Given the description of an element on the screen output the (x, y) to click on. 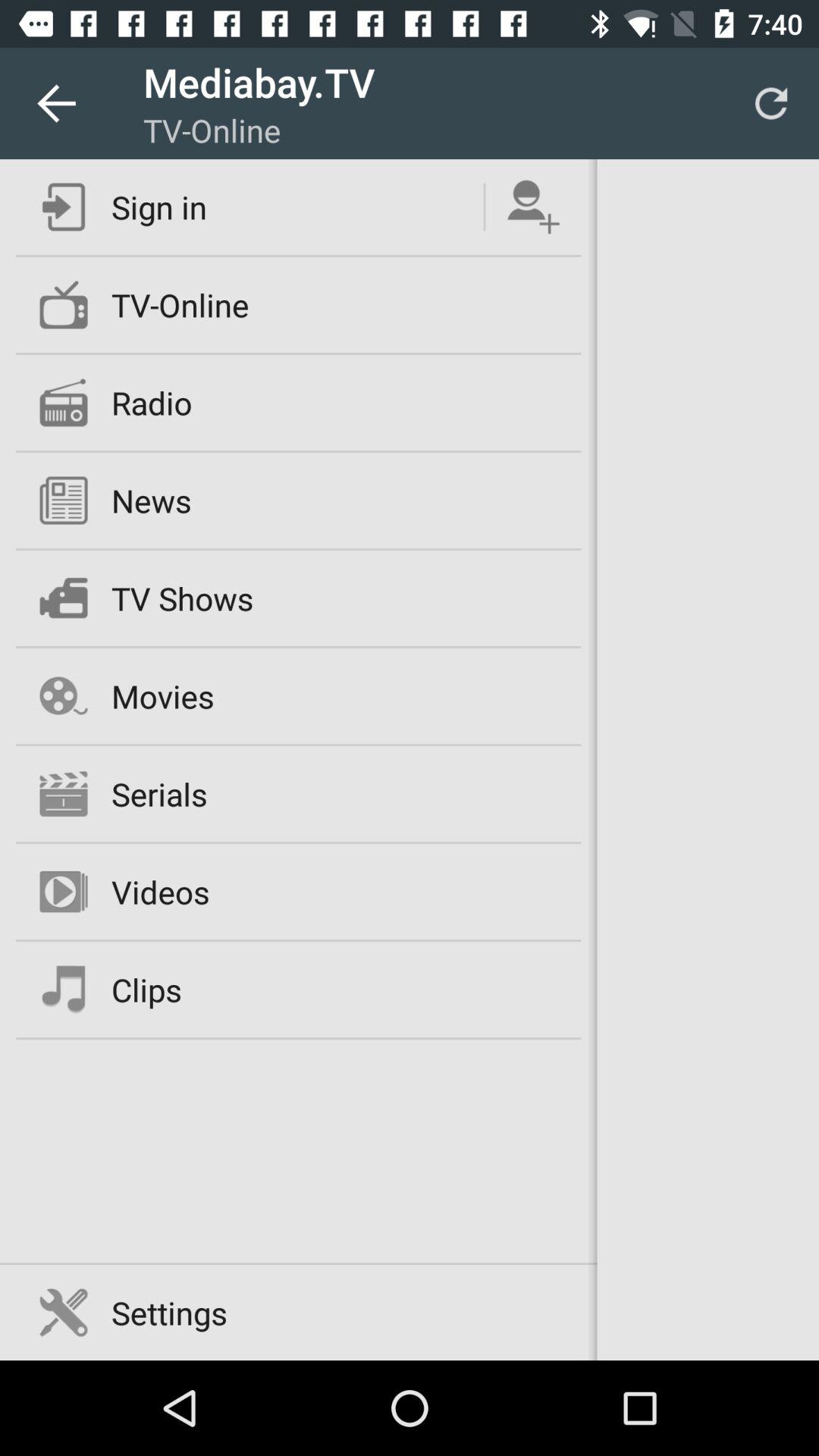
click the icon to the left of the mediabay.tv item (55, 103)
